Given the description of an element on the screen output the (x, y) to click on. 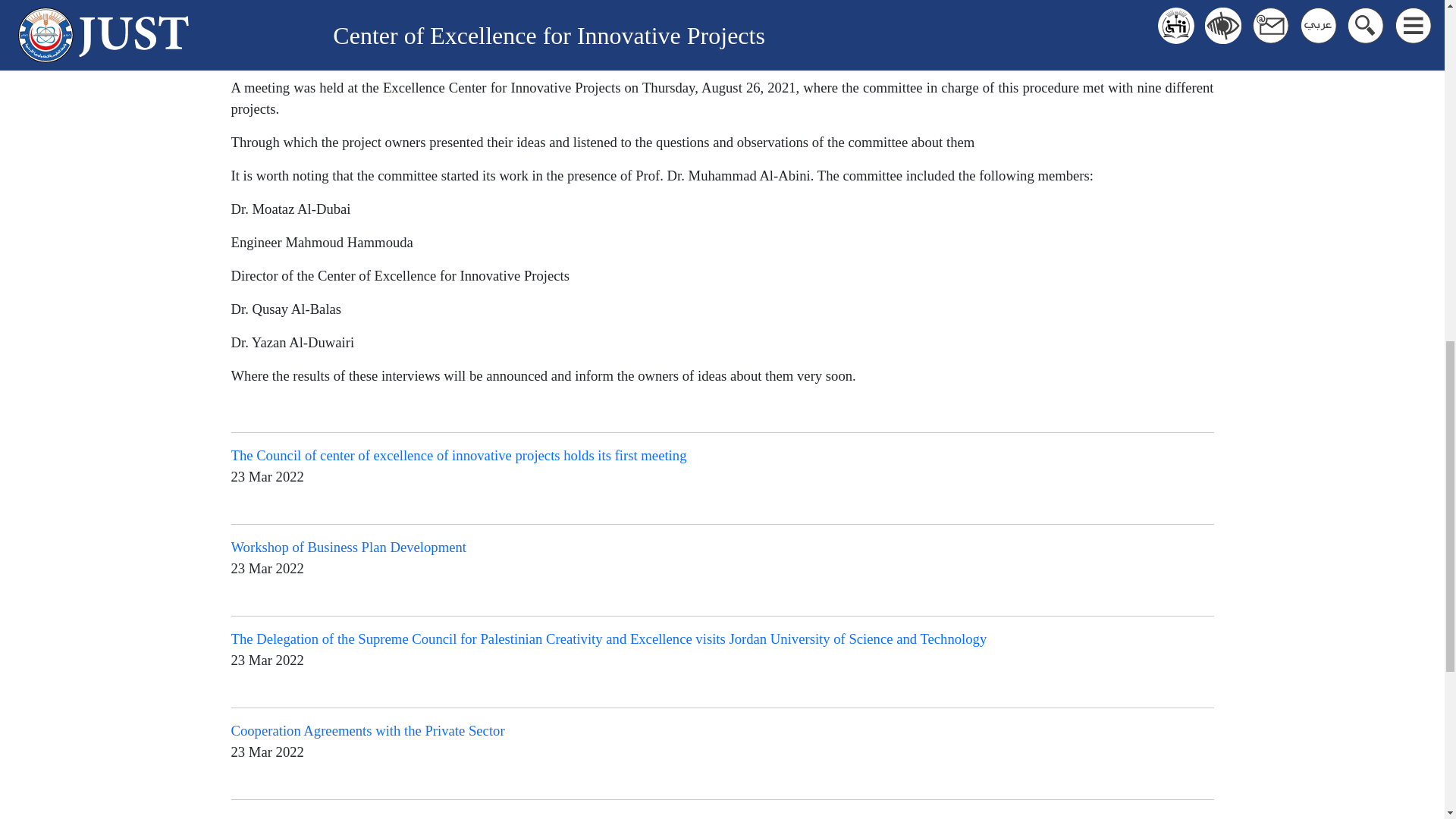
Workshop of Business Plan Development (347, 546)
Cooperation Agreements with the Private Sector (366, 730)
